Given the description of an element on the screen output the (x, y) to click on. 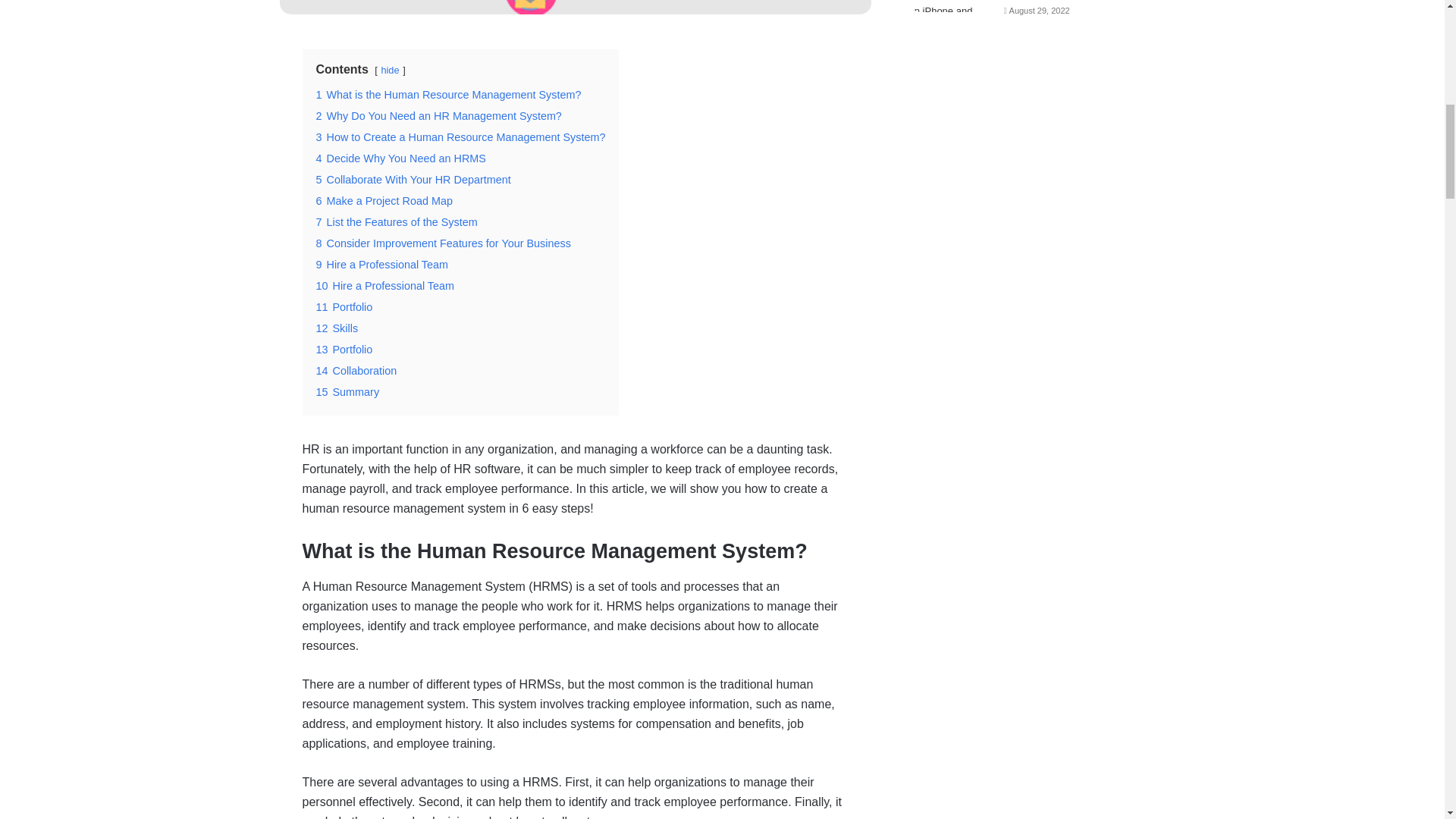
9 Hire a Professional Team (381, 264)
5 Collaborate With Your HR Department (413, 179)
14 Collaboration (355, 370)
13 Portfolio (343, 349)
6 Make a Project Road Map (383, 200)
12 Skills (336, 328)
11 Portfolio (343, 306)
15 Summary (346, 391)
4 Decide Why You Need an HRMS (399, 158)
hide (389, 70)
